Given the description of an element on the screen output the (x, y) to click on. 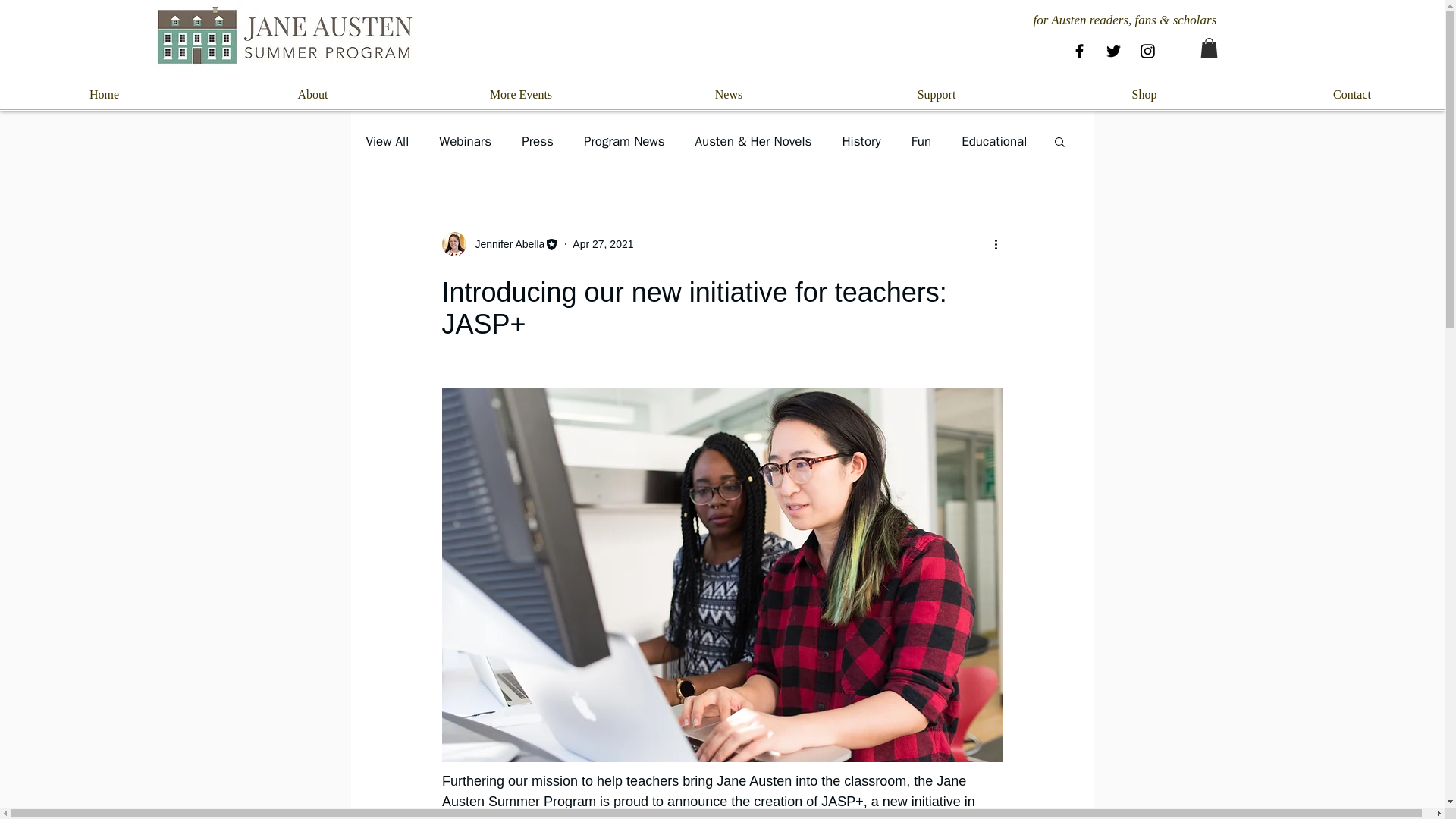
Webinars (465, 140)
Fun (921, 140)
History (860, 140)
View All (387, 140)
Home (104, 94)
Educational (993, 140)
Press (537, 140)
Jennifer Abella (504, 244)
Apr 27, 2021 (602, 244)
News (728, 94)
Program News (624, 140)
Jennifer Abella (500, 243)
